Given the description of an element on the screen output the (x, y) to click on. 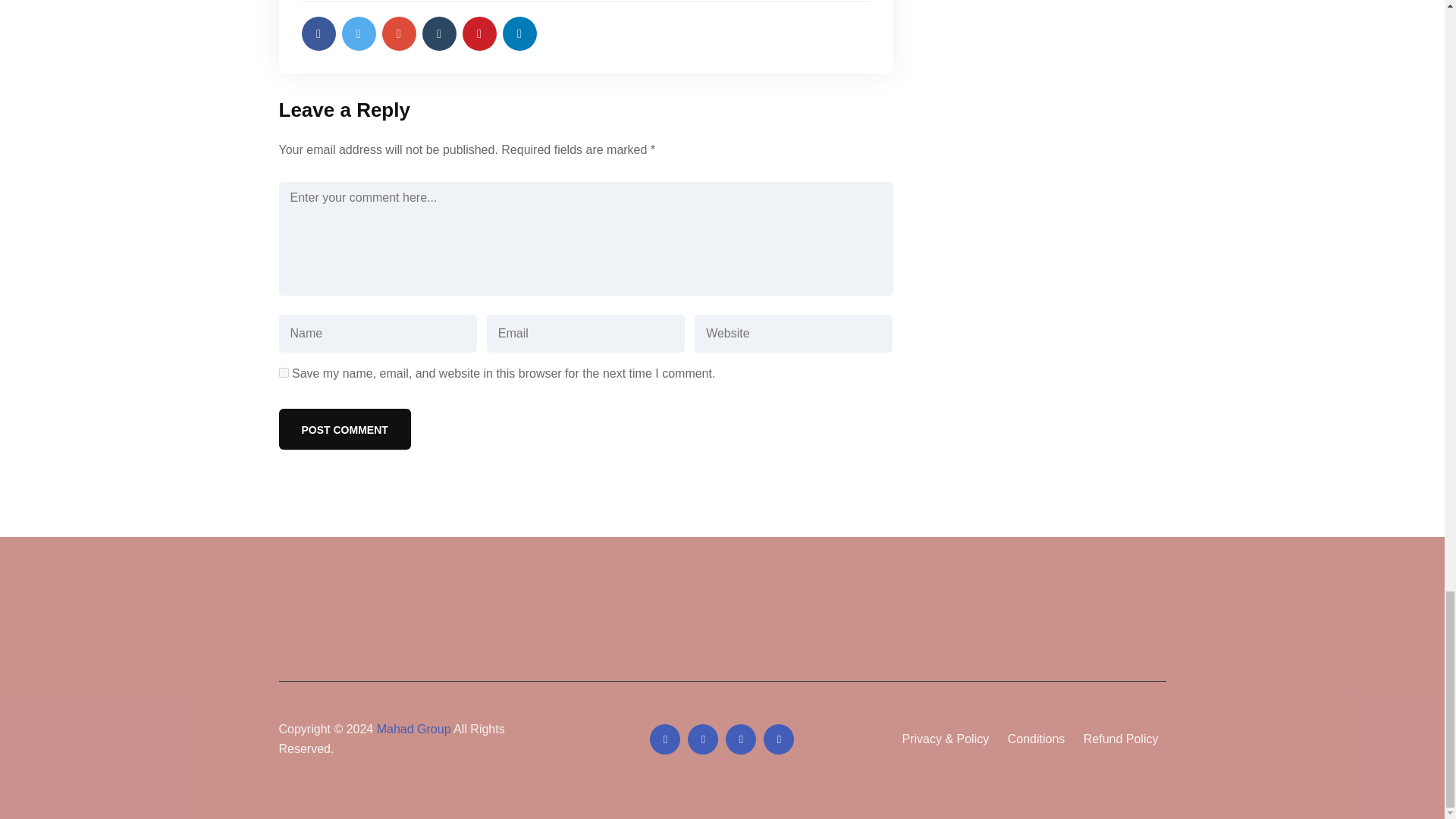
Share on Twitter (357, 33)
yes (283, 372)
Post Comment (344, 428)
Share on Google Plus (398, 33)
Share on Facebook (318, 33)
